Given the description of an element on the screen output the (x, y) to click on. 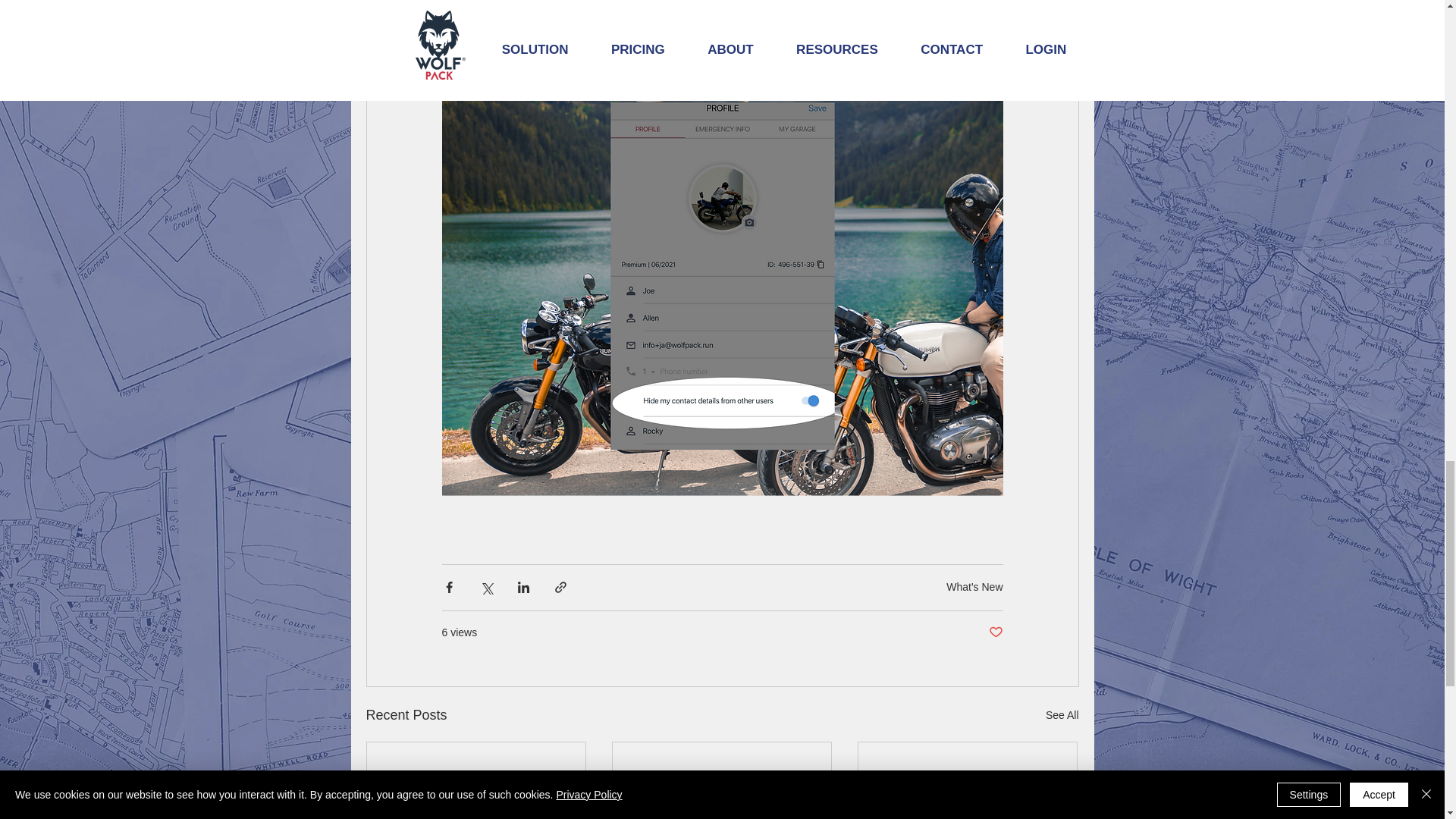
What's New (974, 586)
Post not marked as liked (995, 632)
See All (1061, 715)
